Given the description of an element on the screen output the (x, y) to click on. 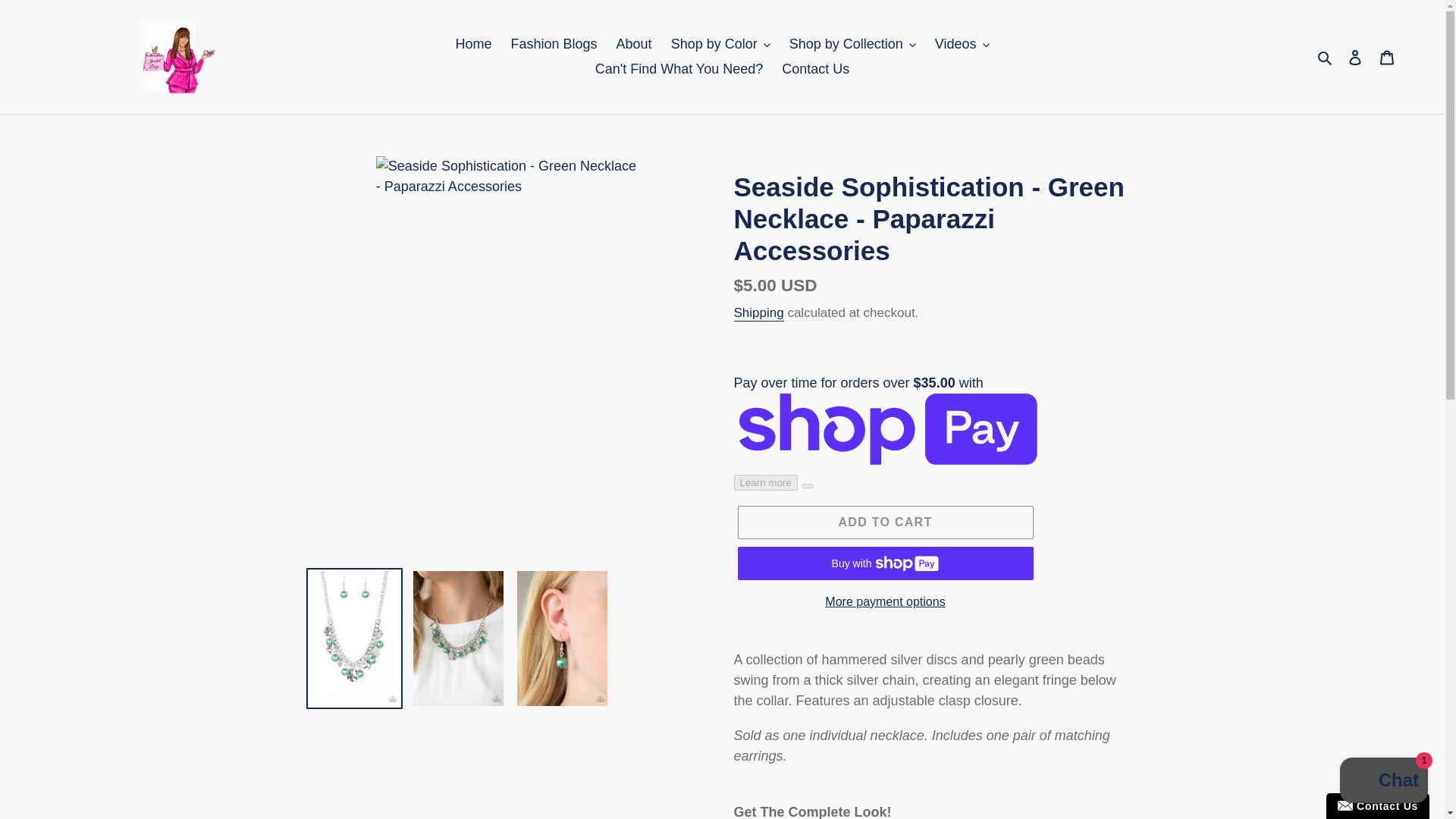
About (633, 43)
Home (472, 43)
Shop by Collection (852, 43)
Shopify online store chat (1383, 781)
Shop by Color (720, 43)
Fashion Blogs (553, 43)
